Given the description of an element on the screen output the (x, y) to click on. 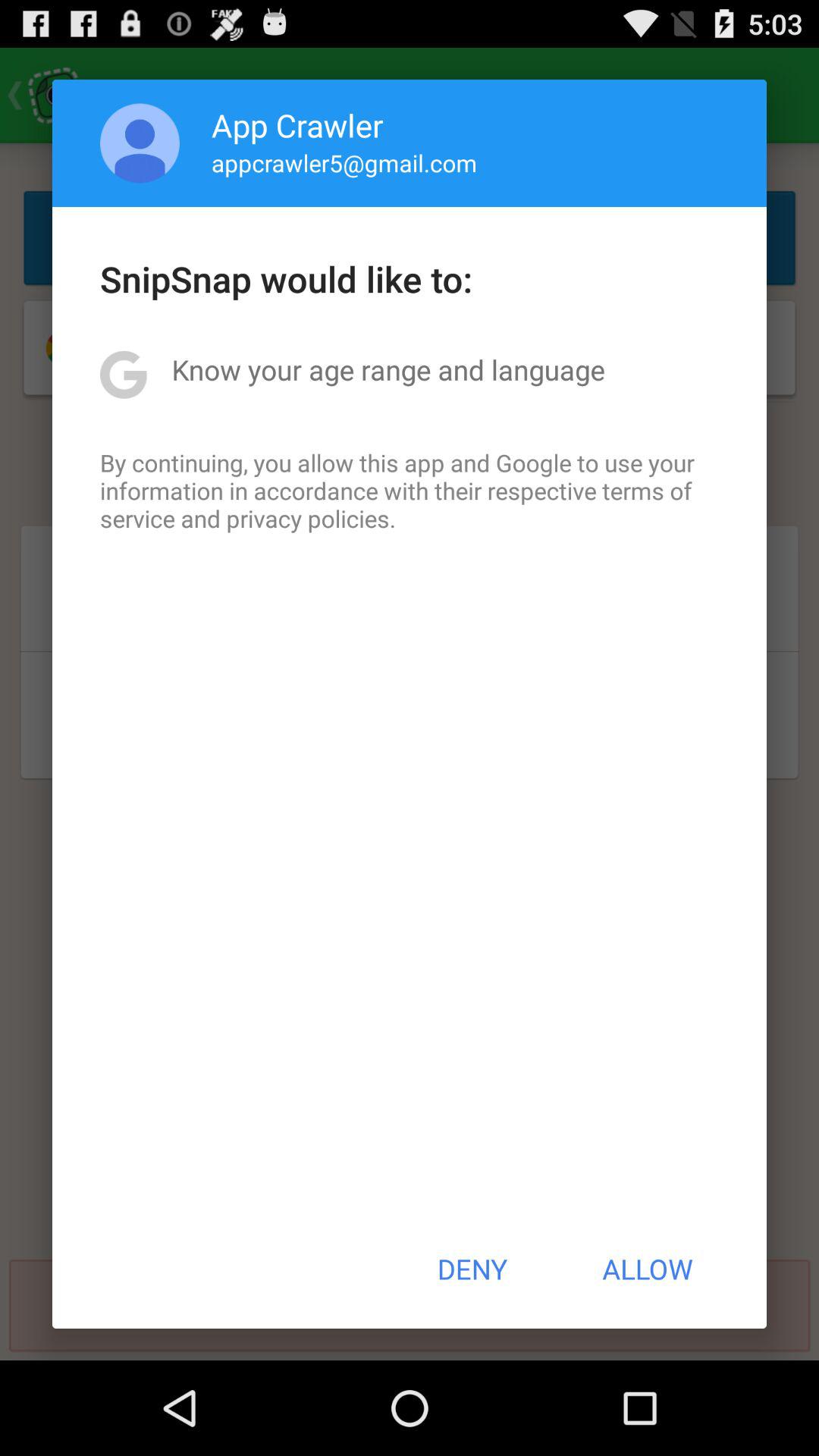
press icon to the left of allow item (471, 1268)
